Given the description of an element on the screen output the (x, y) to click on. 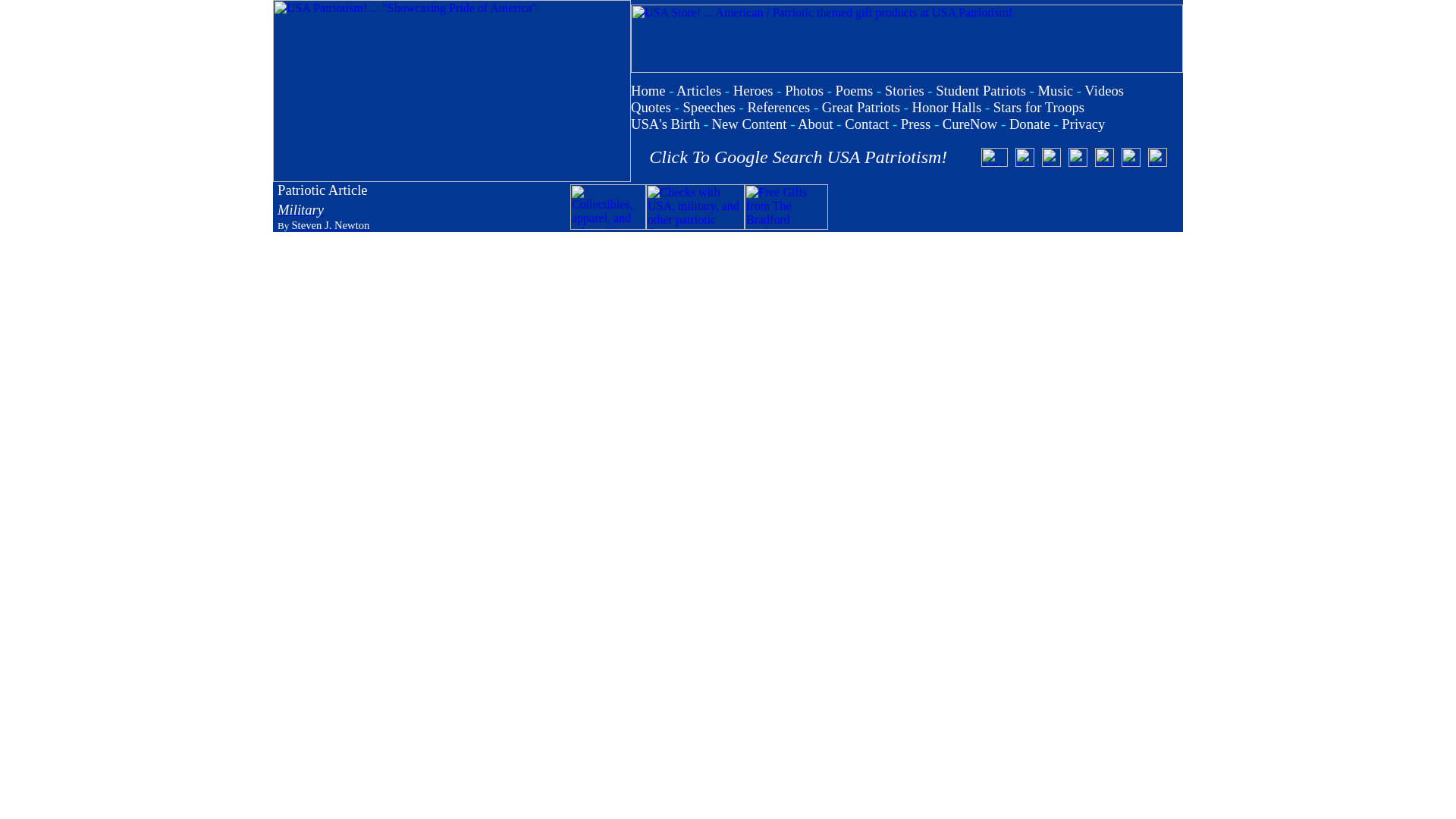
Videos (1104, 90)
Press (915, 123)
Speeches (708, 107)
New Content (749, 123)
USA's Birth (665, 123)
Articles (698, 90)
Stars for Troops (1038, 107)
Great Patriots (860, 107)
References (777, 107)
Home (647, 90)
Music (1054, 90)
Click To Google Search USA Patriotism! (798, 157)
CureNow (969, 123)
Contact (866, 123)
Honor Halls (946, 107)
